Given the description of an element on the screen output the (x, y) to click on. 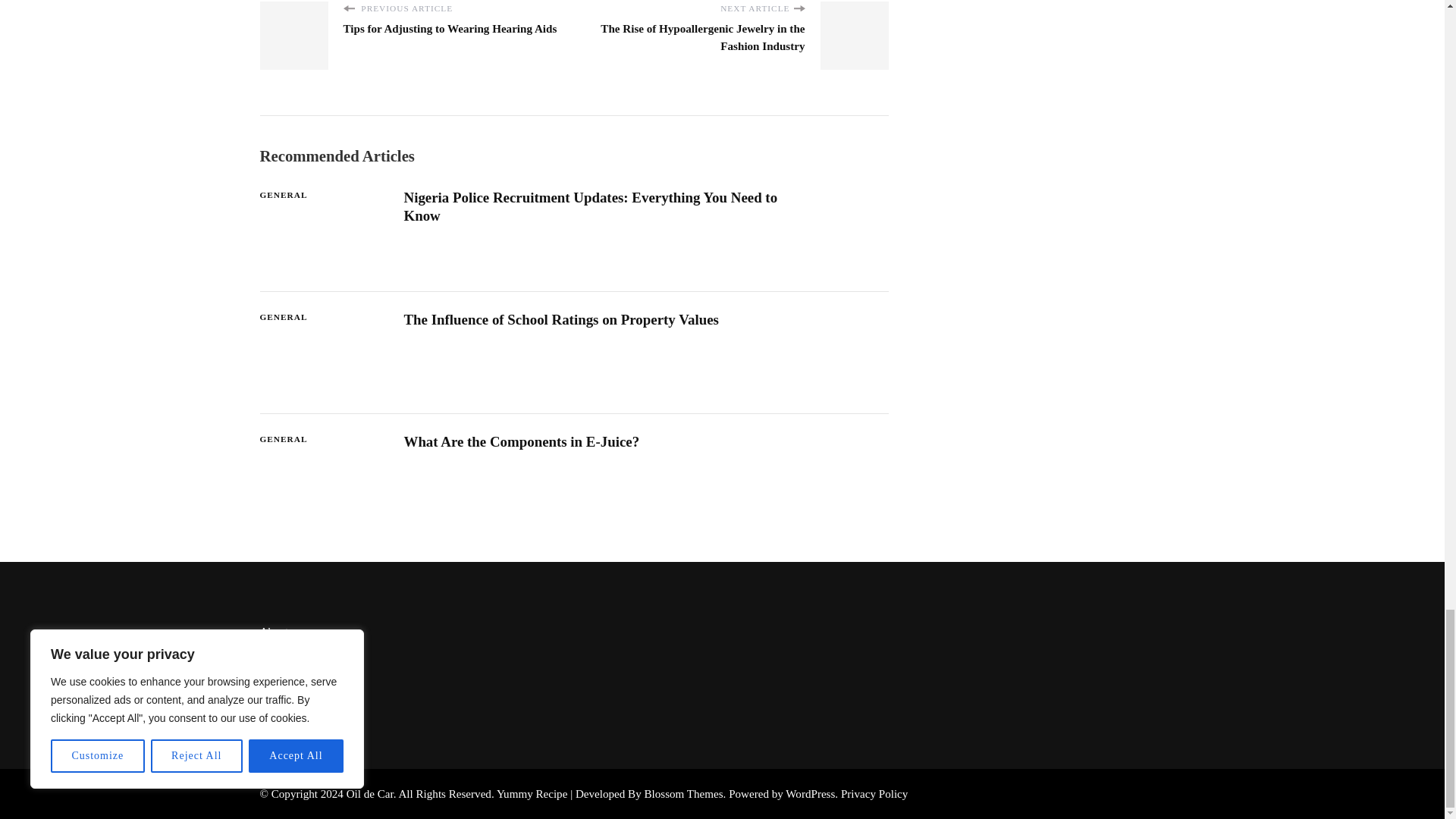
GENERAL (283, 195)
